Given the description of an element on the screen output the (x, y) to click on. 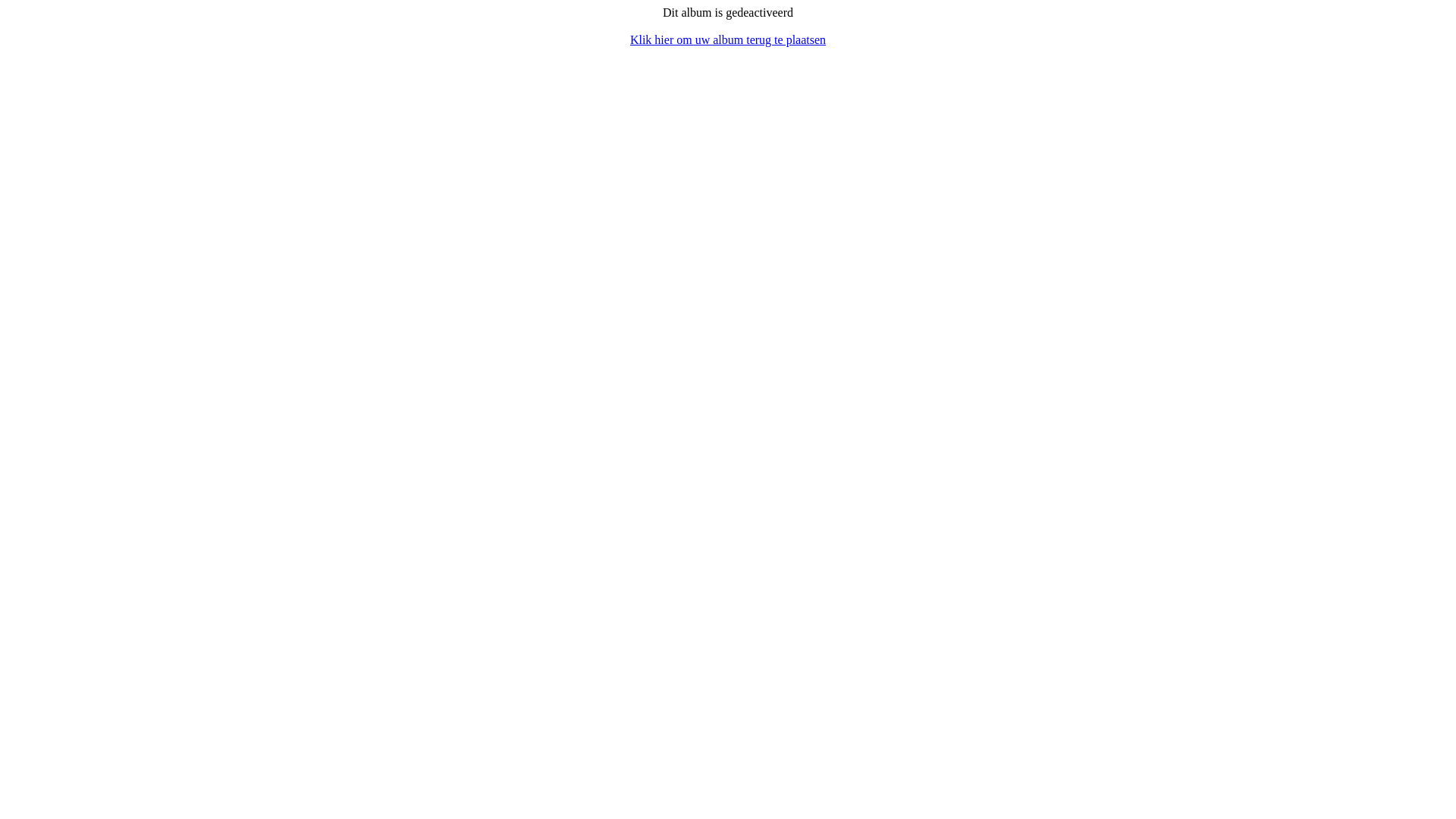
Klik hier om uw album terug te plaatsen Element type: text (727, 39)
